Given the description of an element on the screen output the (x, y) to click on. 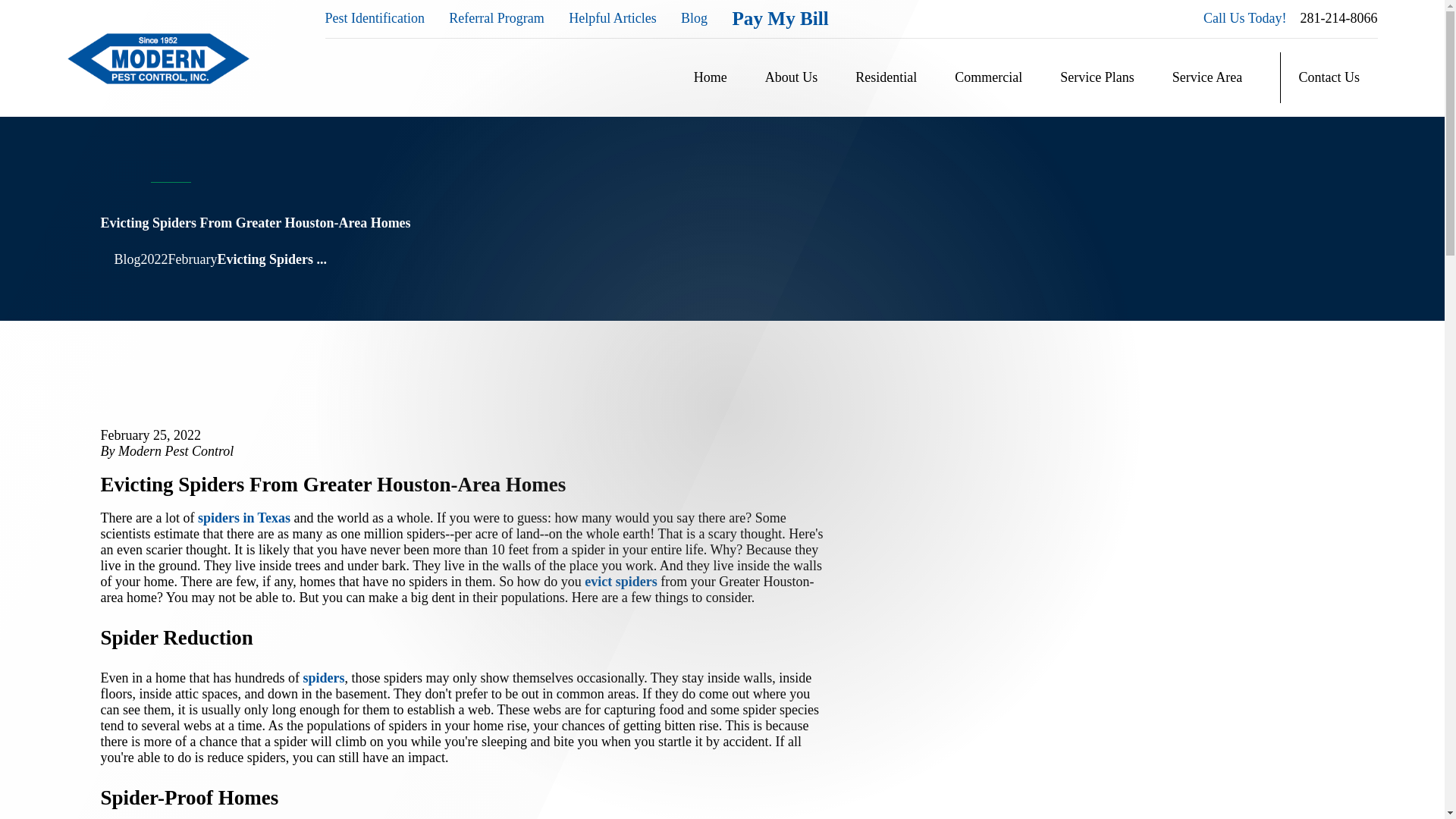
Helpful Articles (612, 17)
About Us (791, 78)
Blog (694, 17)
Referral Program (495, 17)
Home (157, 58)
Modern Pest Control (157, 58)
Pest Identification (373, 17)
281-214-8066 (1338, 18)
Commercial (988, 78)
Go Home (106, 259)
Service Area (1206, 78)
Home (710, 78)
Pay My Bill (780, 18)
Service Plans (1096, 78)
Residential (886, 78)
